Given the description of an element on the screen output the (x, y) to click on. 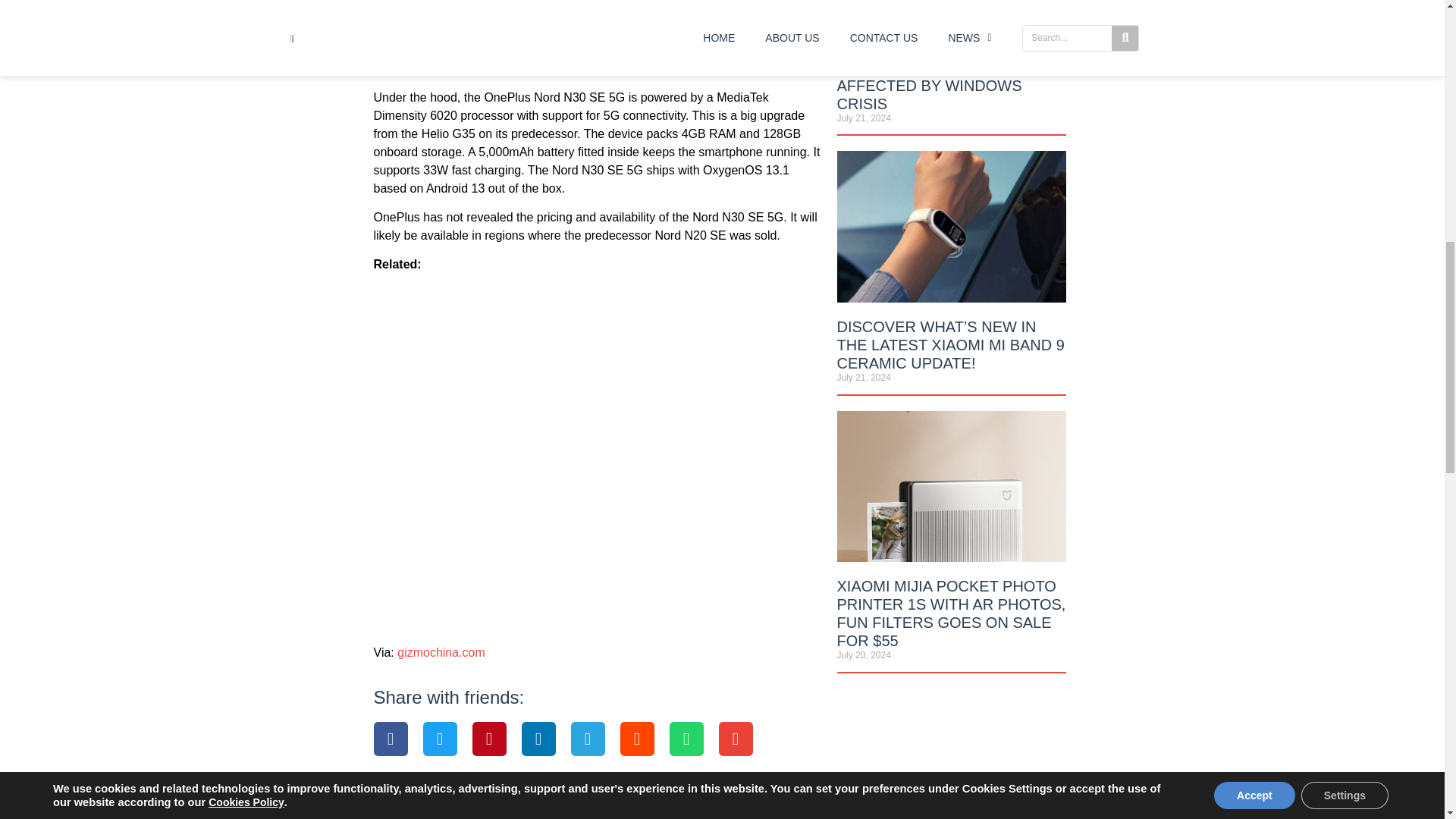
gizmochina.com (440, 652)
